Given the description of an element on the screen output the (x, y) to click on. 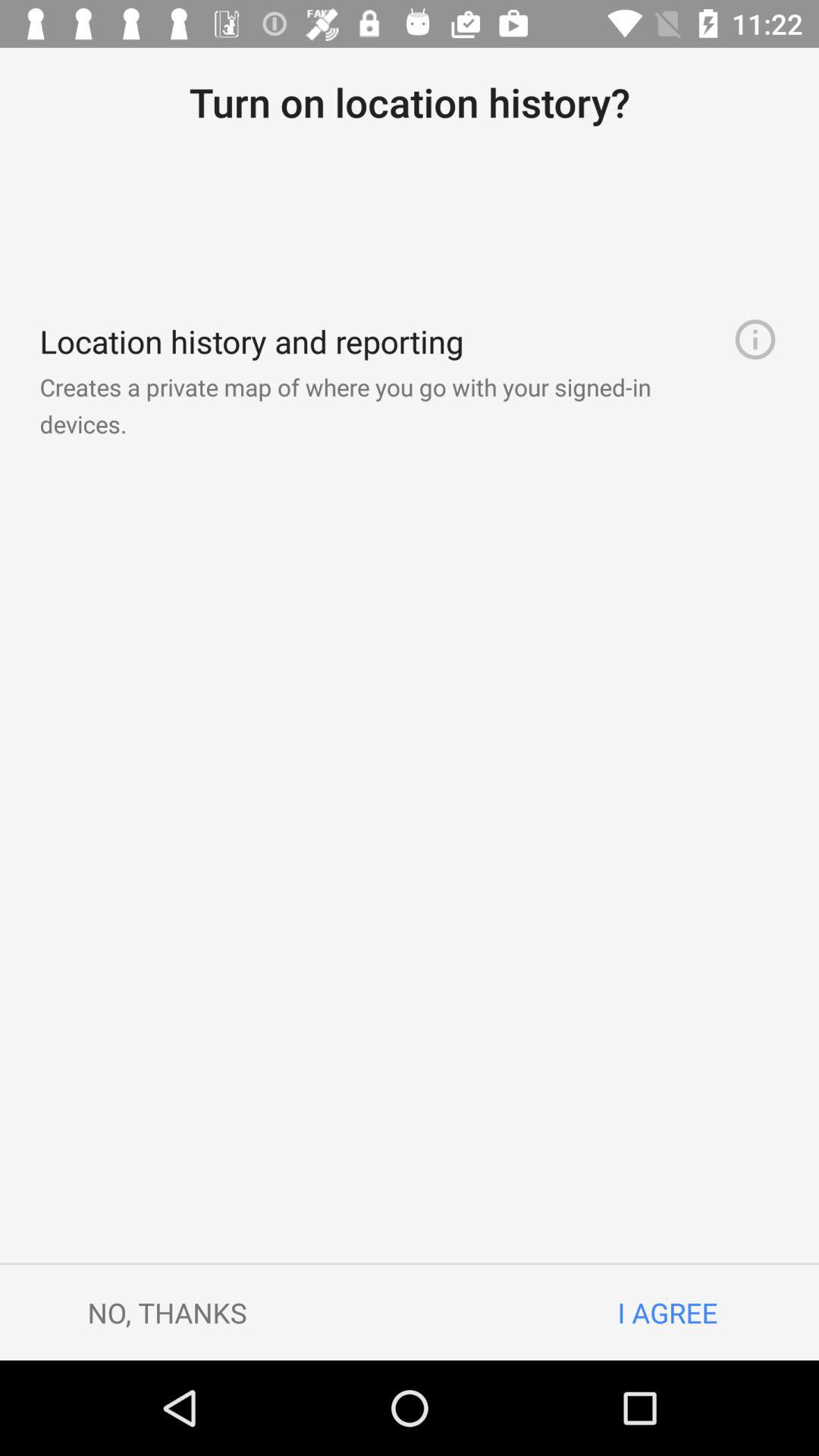
press the no, thanks at the bottom left corner (166, 1312)
